Given the description of an element on the screen output the (x, y) to click on. 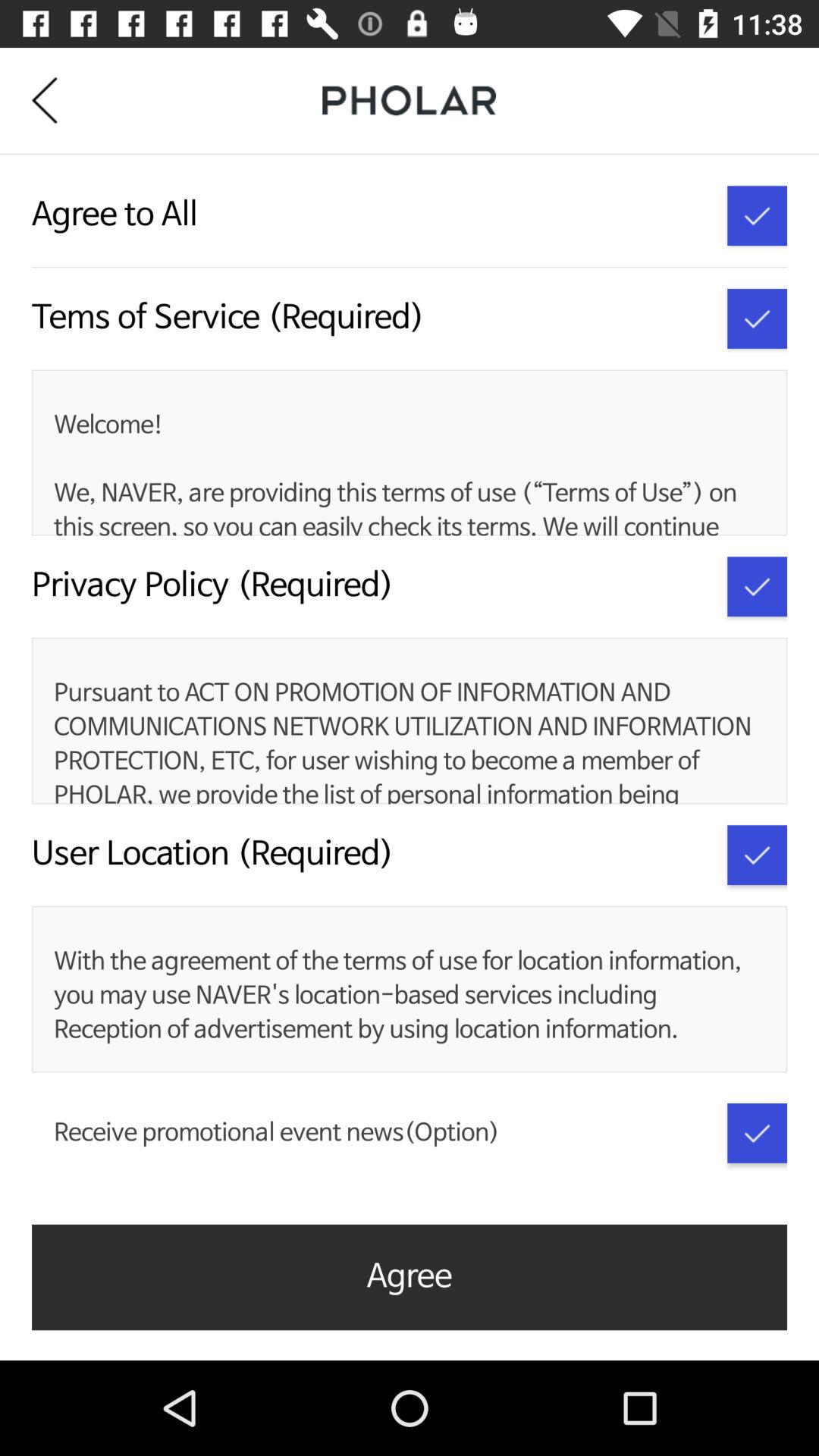
flip to the welcome we naver item (406, 473)
